Given the description of an element on the screen output the (x, y) to click on. 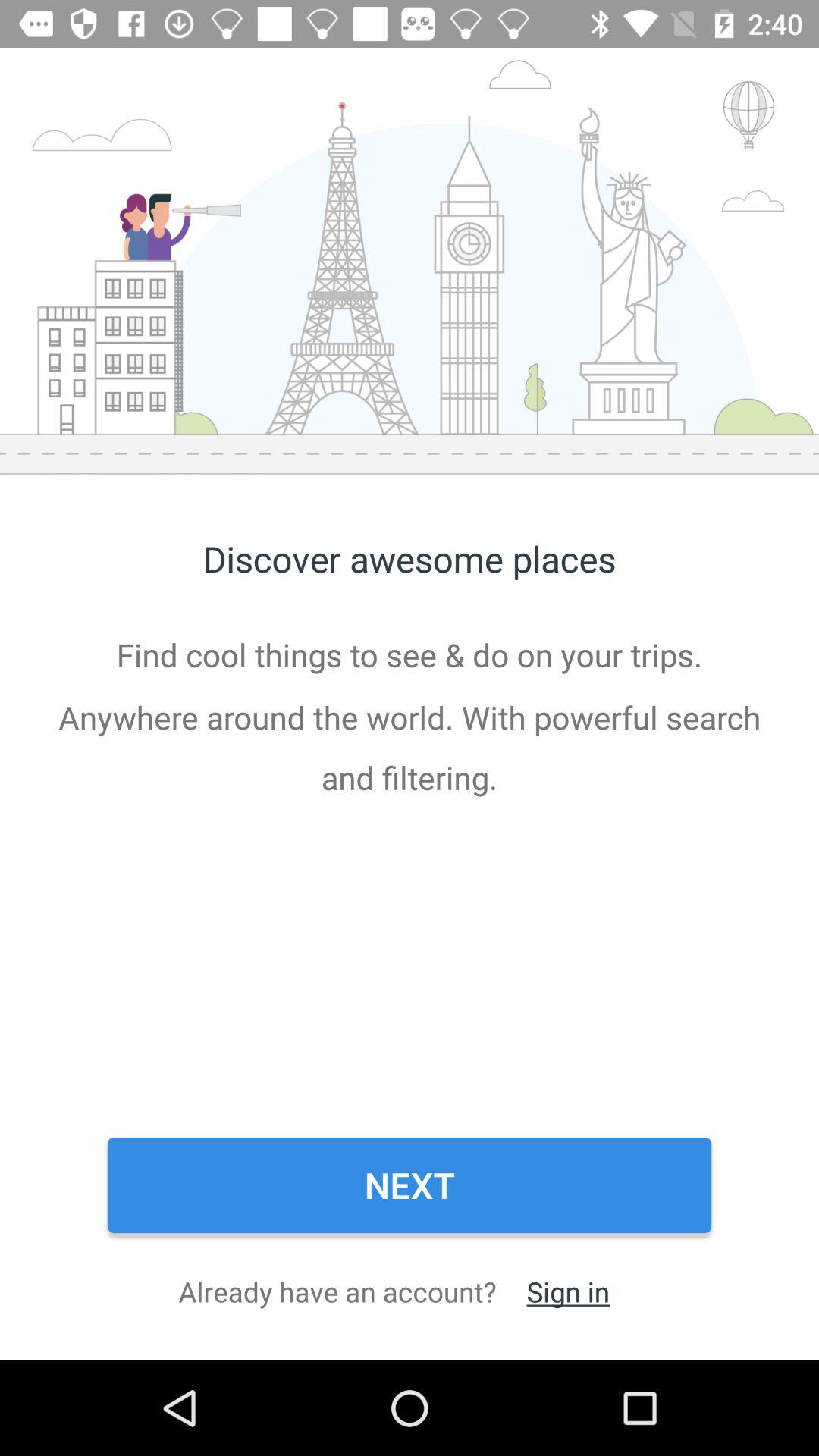
flip to next item (409, 1185)
